Given the description of an element on the screen output the (x, y) to click on. 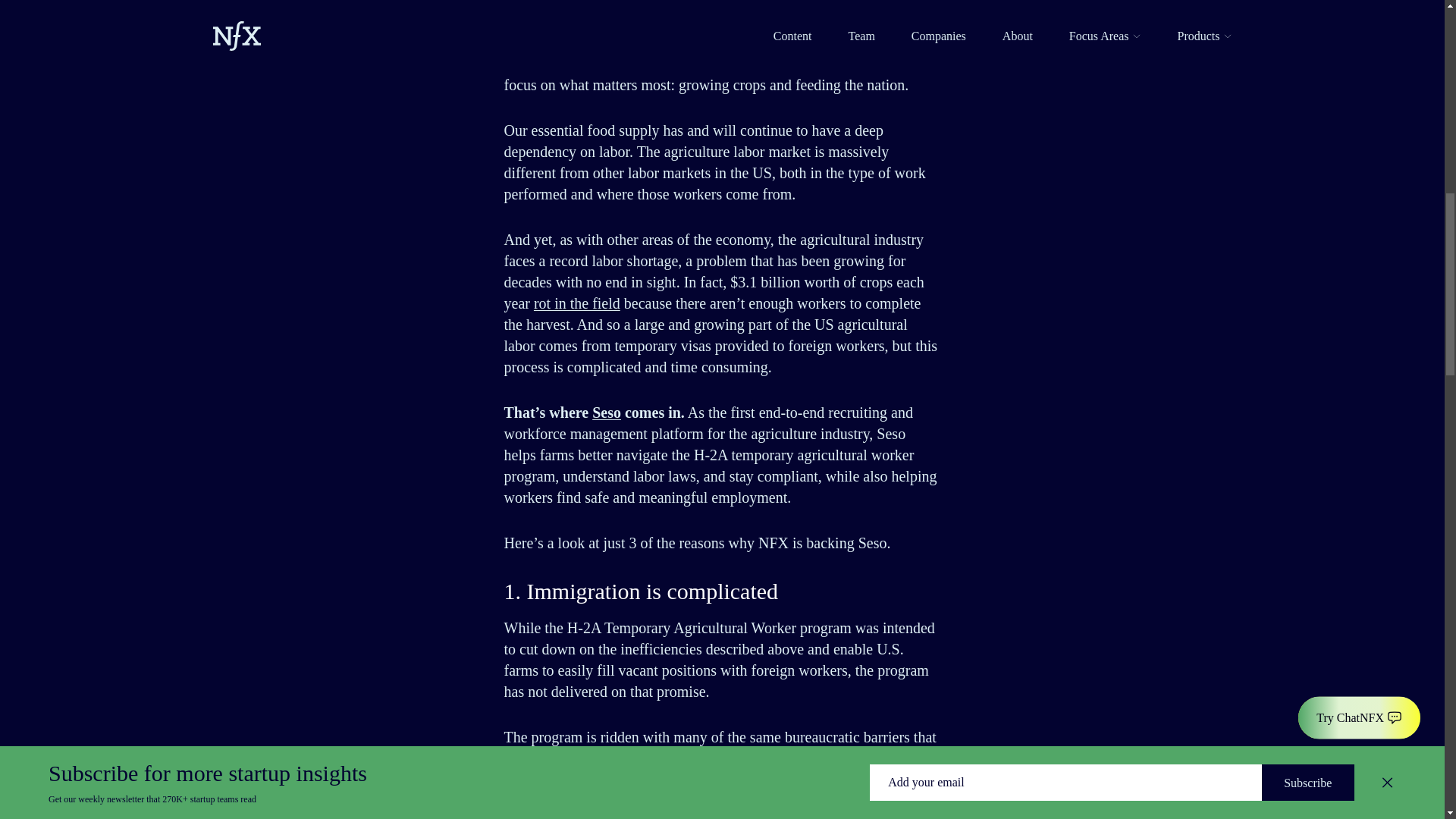
3. Founders on a Mission (331, 32)
2. Vertical Integration (325, 14)
1. Immigration is complicated (339, 0)
